Given the description of an element on the screen output the (x, y) to click on. 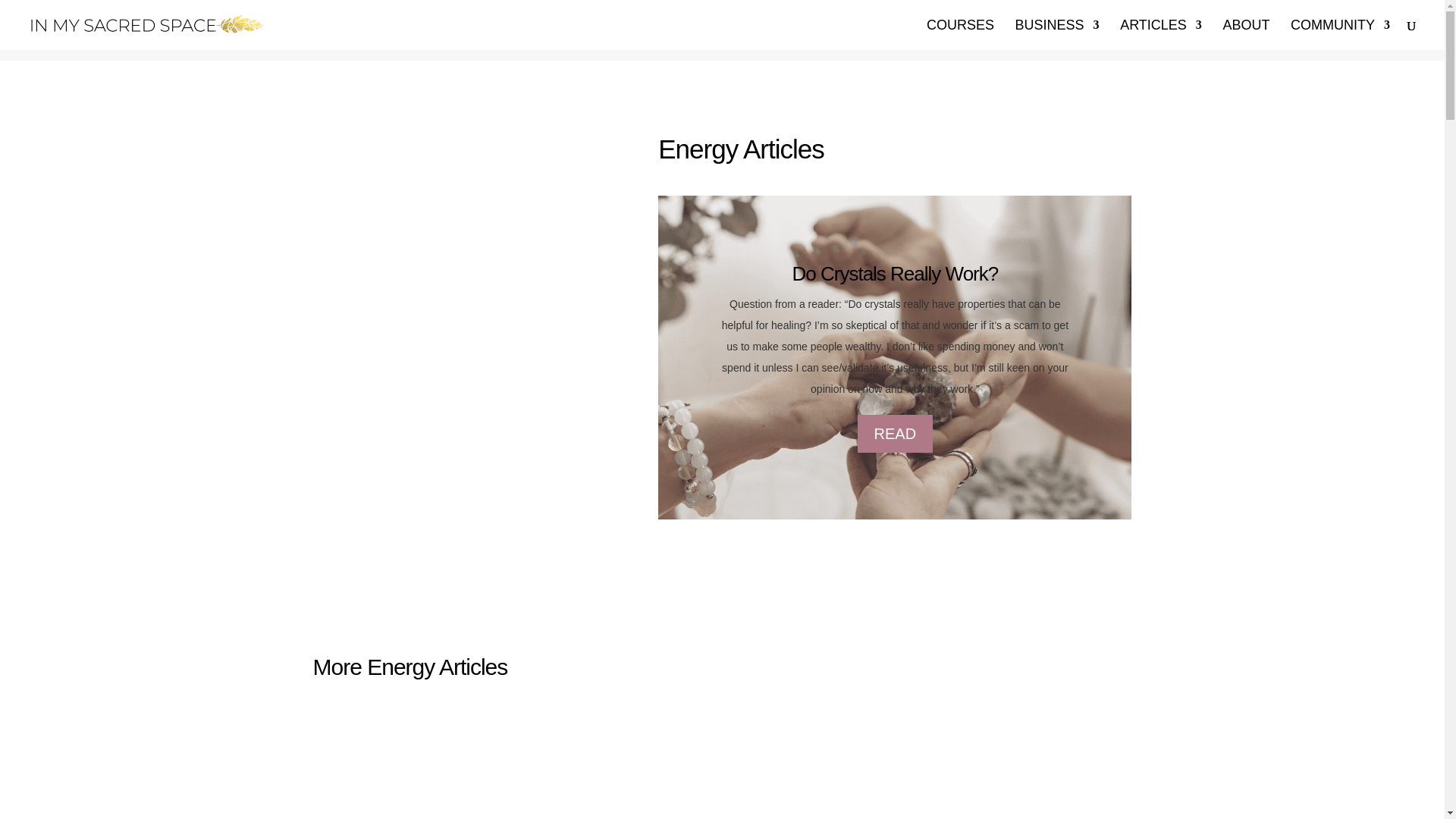
COURSES (960, 34)
ARTICLES (1160, 34)
BUSINESS (1056, 34)
ABOUT (1246, 34)
Do Crystals Really Work? (895, 273)
COMMUNITY (1340, 34)
READ (895, 433)
